Given the description of an element on the screen output the (x, y) to click on. 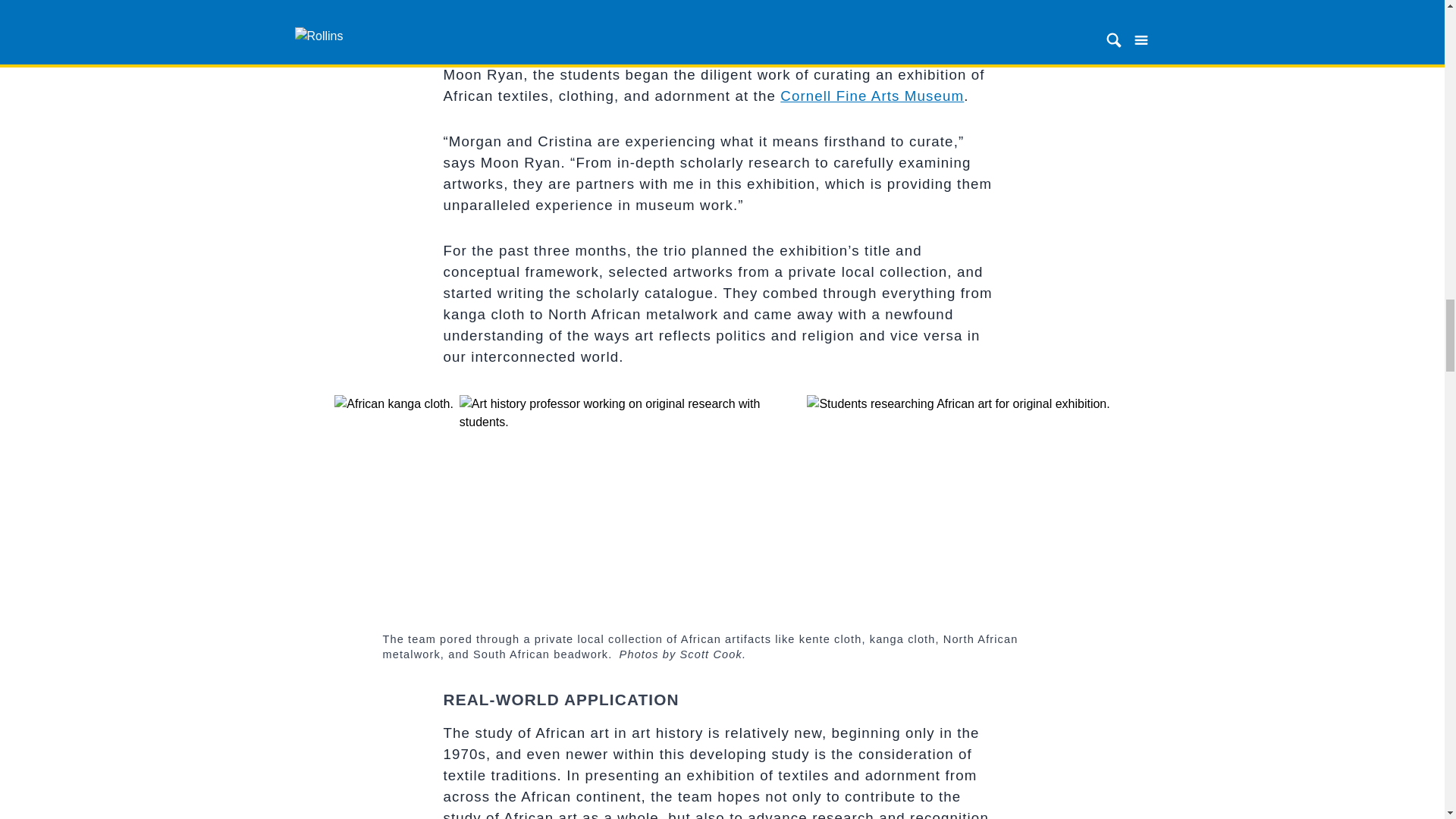
Cornell Fine Arts Museum (871, 95)
